Given the description of an element on the screen output the (x, y) to click on. 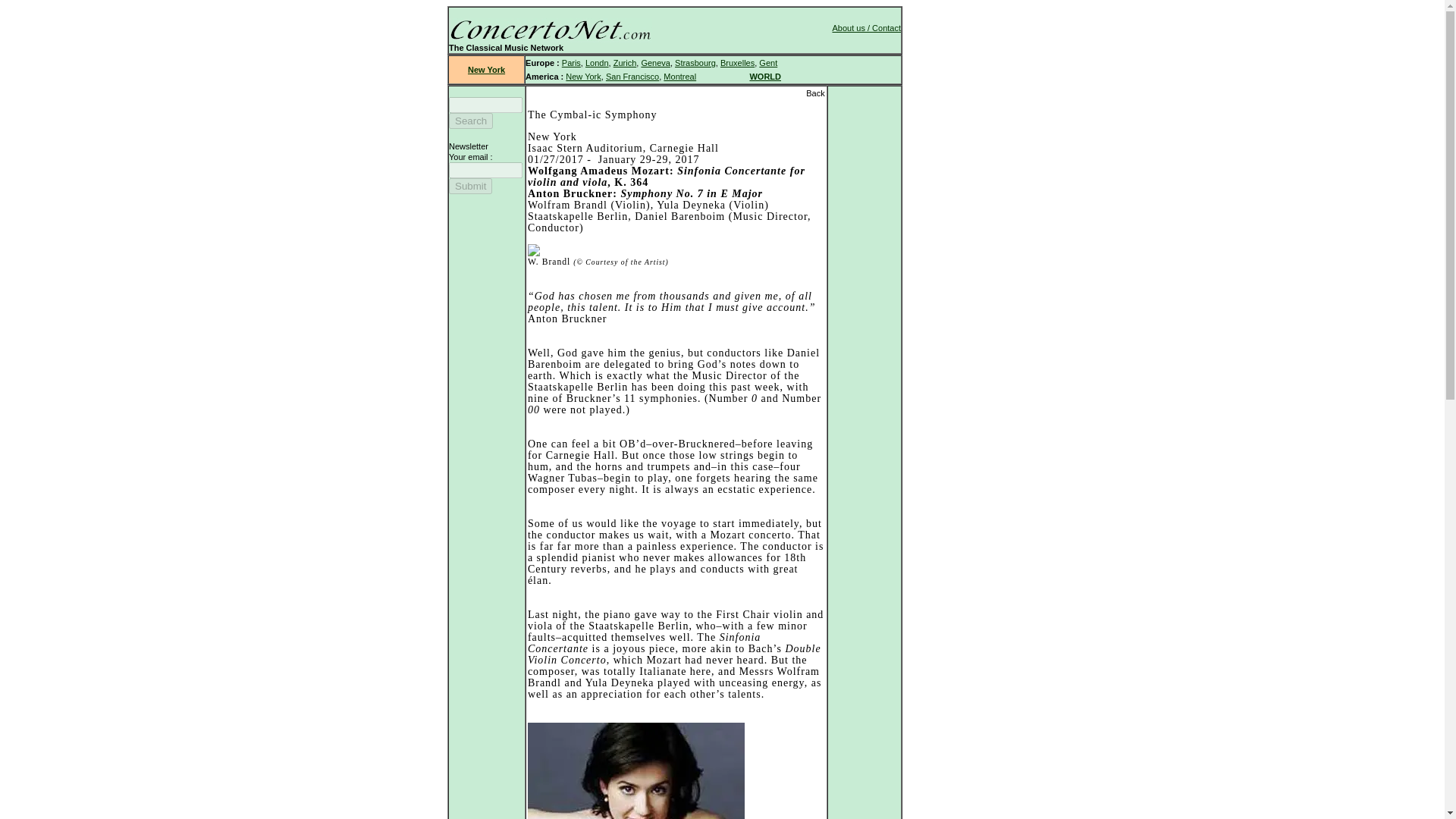
New York (582, 76)
Search (470, 120)
WORLD (764, 76)
New York (486, 69)
Submit (470, 186)
Montreal (679, 76)
San Francisco (632, 76)
Londn (596, 62)
Strasbourg (695, 62)
Geneva (654, 62)
Zurich (624, 62)
Back (815, 92)
Paris (571, 62)
Gent (767, 62)
Search (470, 120)
